Given the description of an element on the screen output the (x, y) to click on. 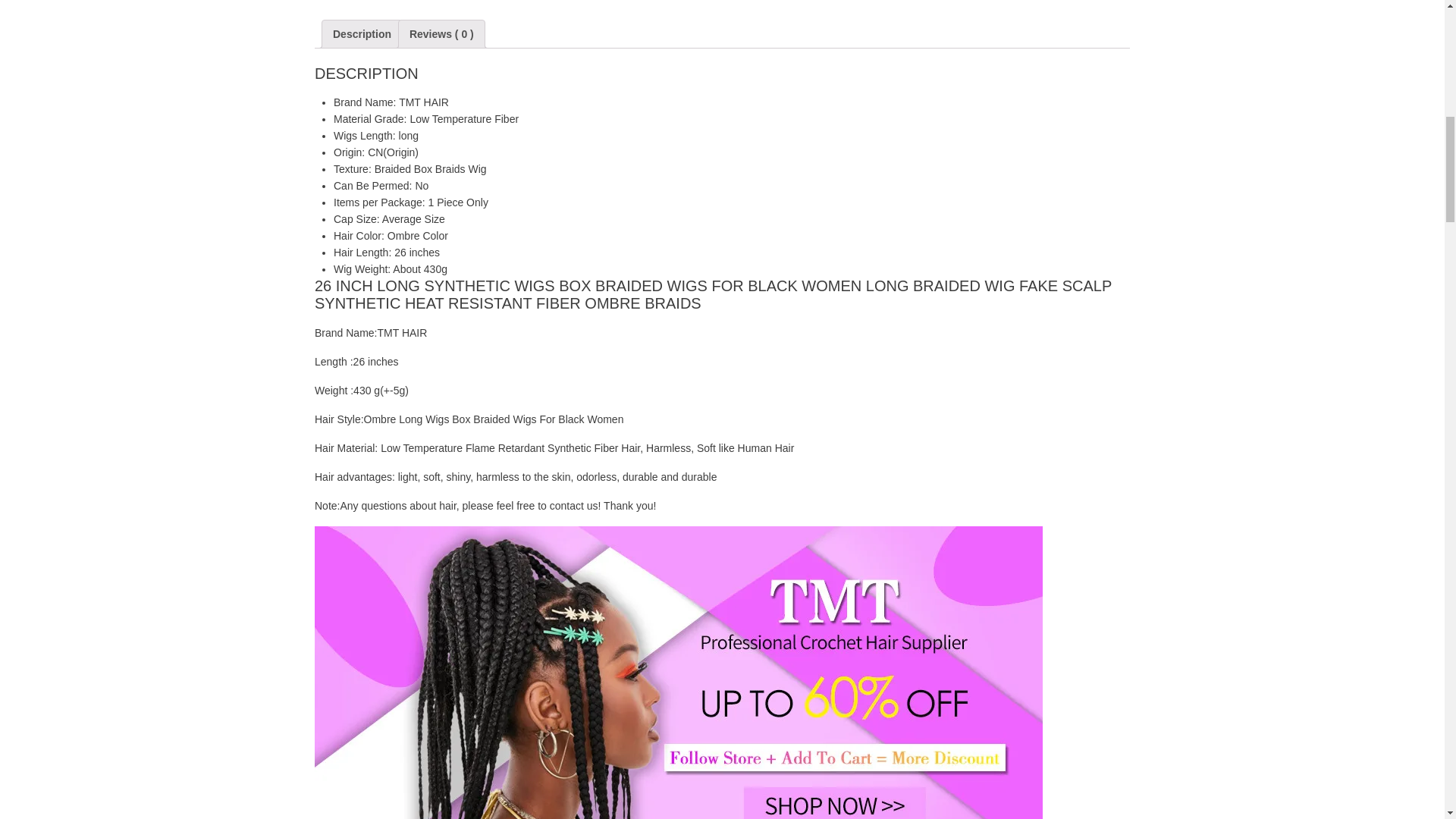
Description (362, 33)
